Given the description of an element on the screen output the (x, y) to click on. 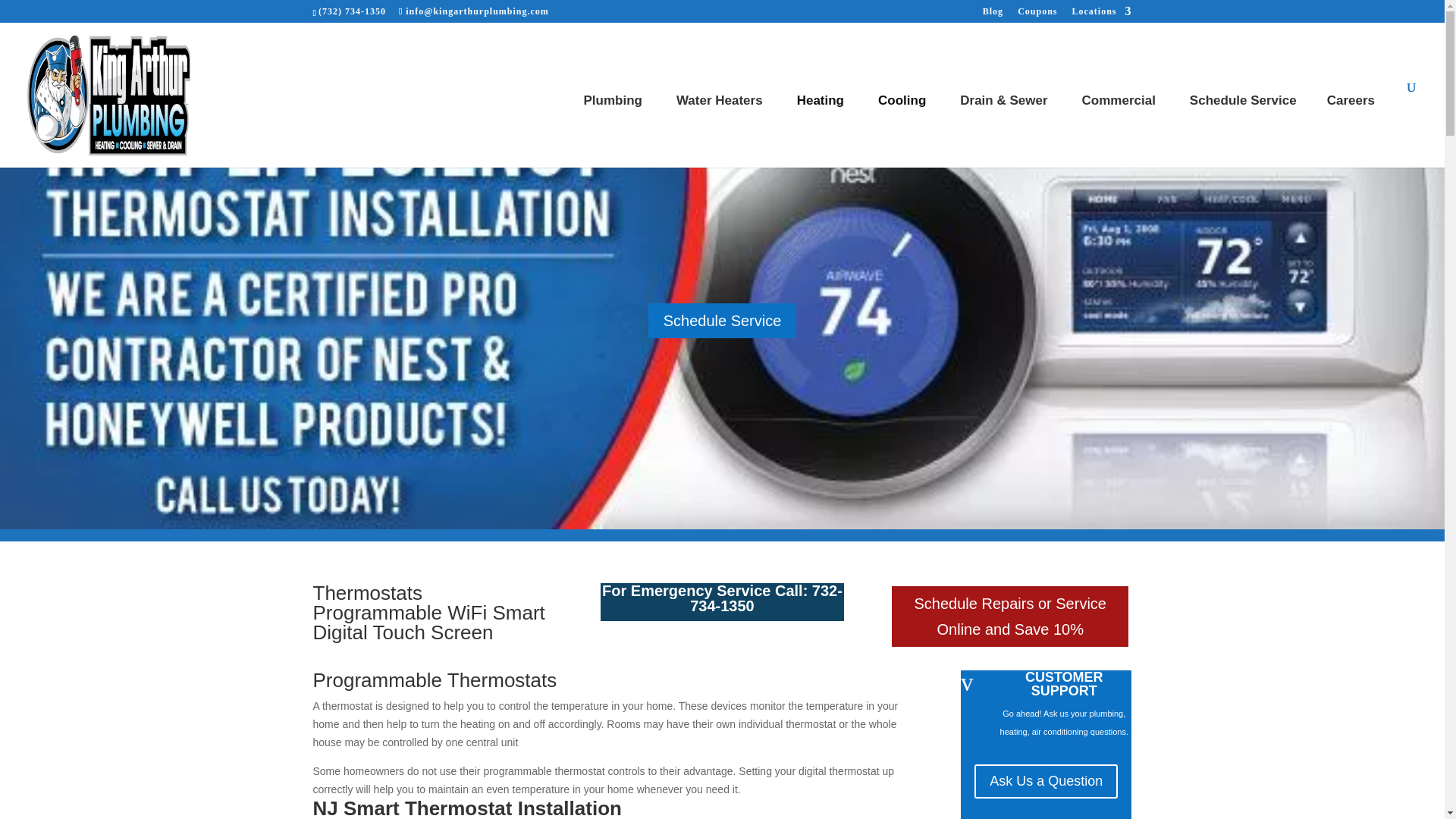
Blog (992, 14)
Cooling (903, 124)
Plumbing (615, 124)
Locations (1101, 14)
Heating (822, 124)
Water Heaters (721, 124)
Coupons (1037, 14)
